Given the description of an element on the screen output the (x, y) to click on. 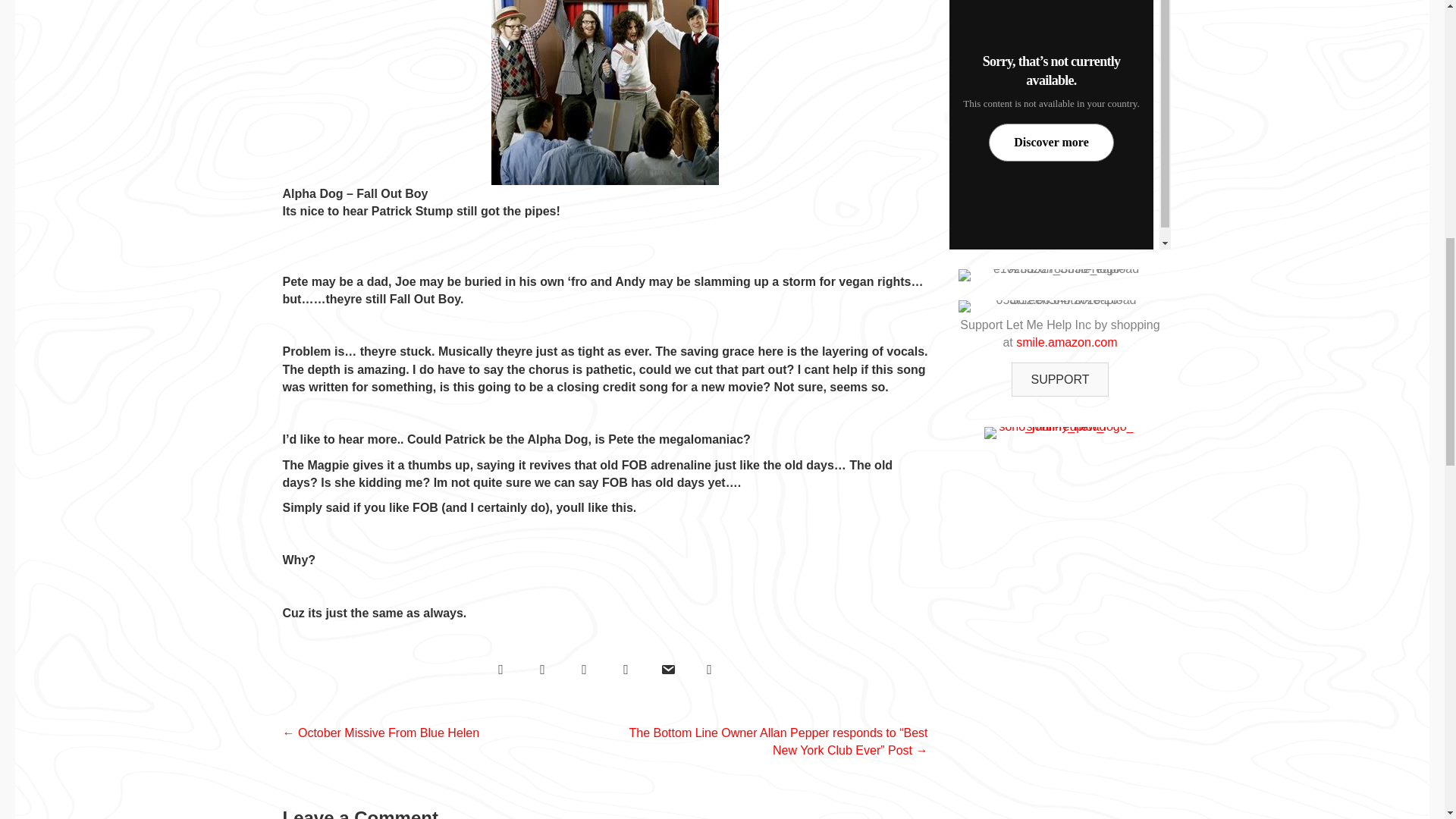
SUPPORT (1059, 379)
smile.amazon.com (1066, 341)
ScreenShot2020-10-05at12.00.04PM-reupload (1059, 306)
